Given the description of an element on the screen output the (x, y) to click on. 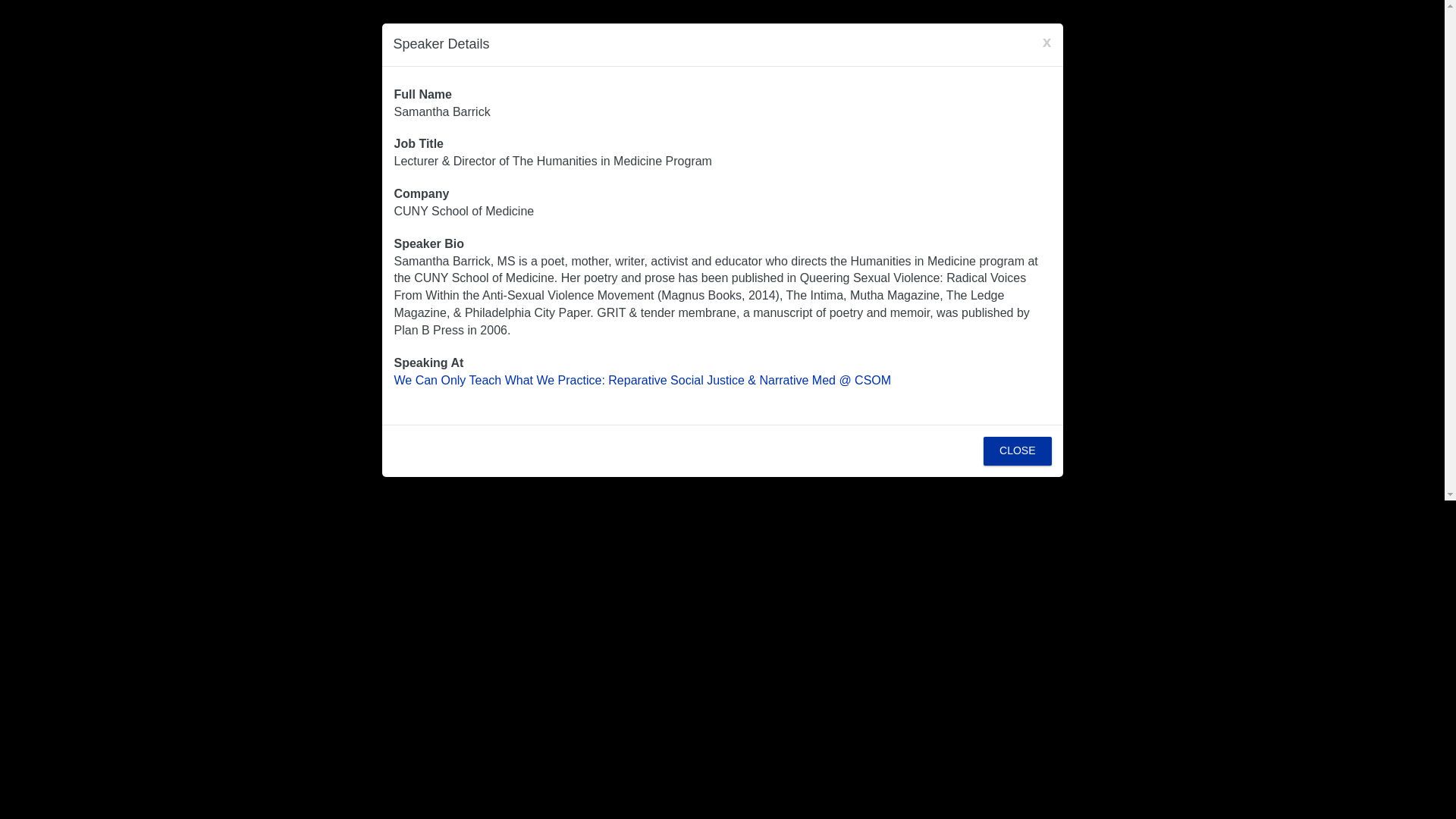
Session Details (642, 379)
CLOSE (1017, 451)
